Given the description of an element on the screen output the (x, y) to click on. 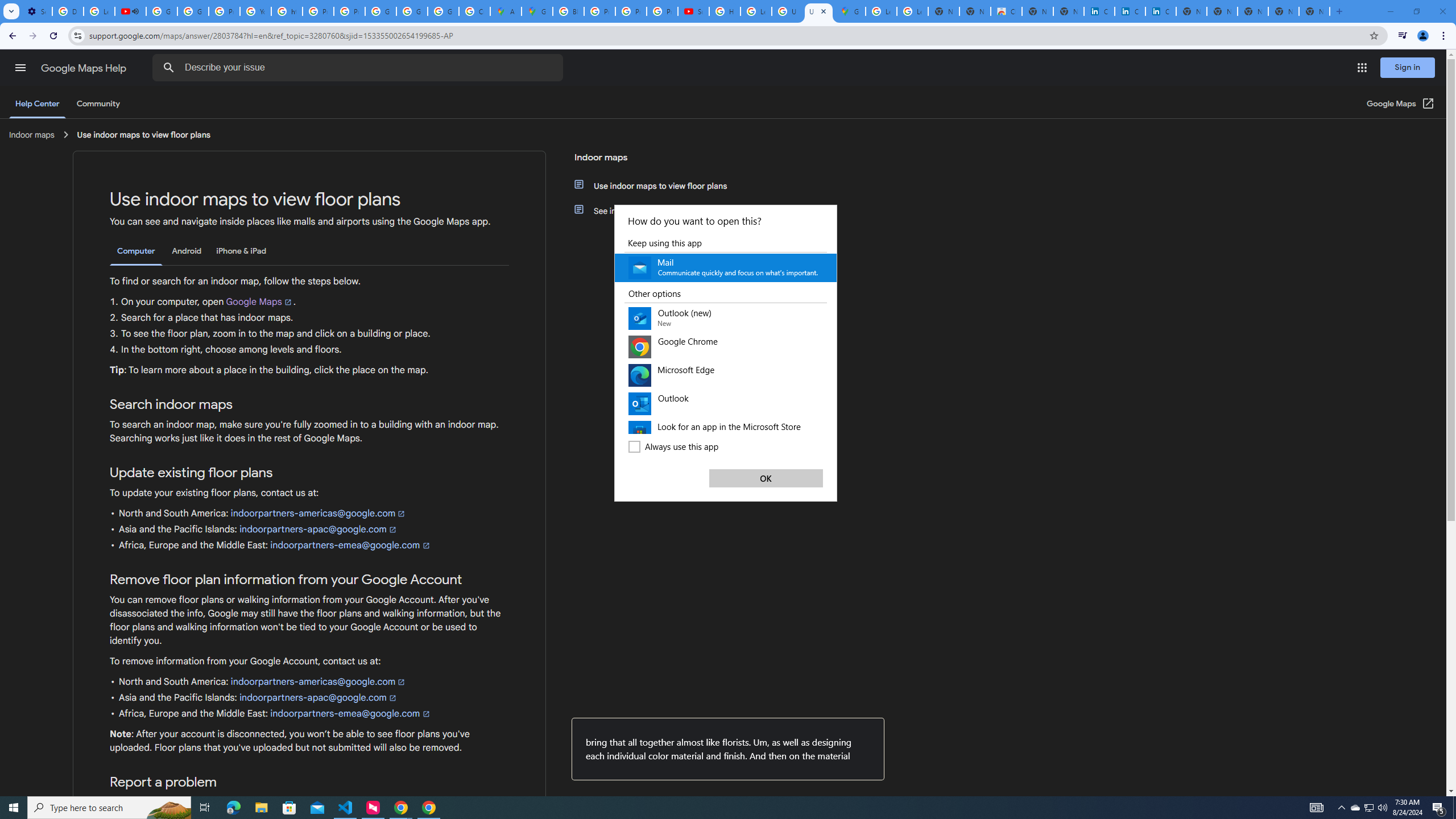
Privacy Help Center - Policies Help (599, 11)
YouTube (255, 11)
Privacy Help Center - Policies Help (631, 11)
Computer (136, 251)
Start (13, 807)
Outlook (725, 403)
iPhone & iPad (240, 250)
Blogger Policies and Guidelines - Transparency Center (568, 11)
Show desktop (1454, 807)
Describe your issue (359, 67)
